Given the description of an element on the screen output the (x, y) to click on. 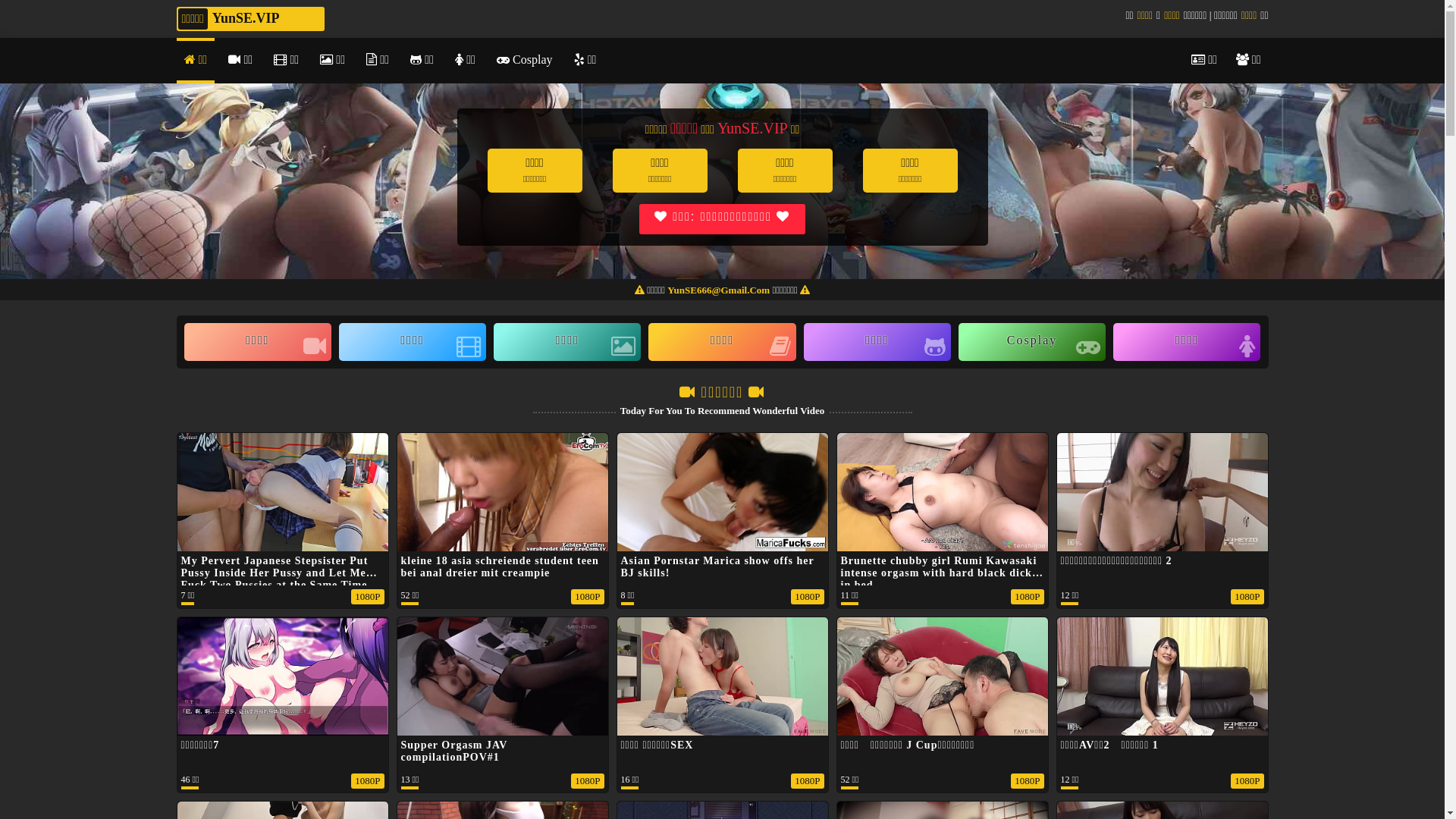
Asian Pornstar Marica show offs her BJ skills! Element type: text (716, 566)
Cosplay Element type: text (524, 60)
Supper Orgasm JAV compilationPOV#1 Element type: hover (502, 732)
Cosplay Element type: text (1031, 341)
Supper Orgasm JAV compilationPOV#1 Element type: text (453, 750)
Asian Pornstar Marica show offs her BJ skills! Element type: hover (722, 548)
